Given the description of an element on the screen output the (x, y) to click on. 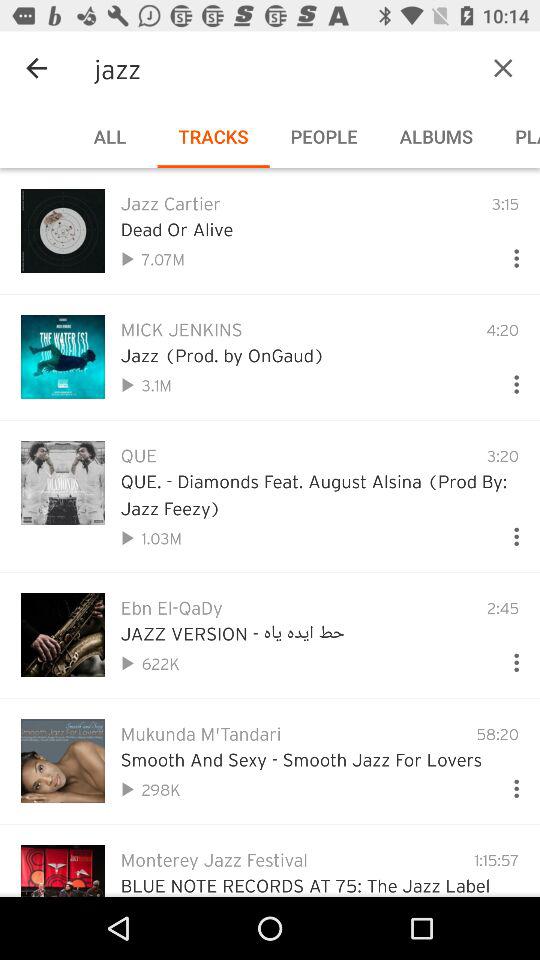
see other details for this song (508, 532)
